Given the description of an element on the screen output the (x, y) to click on. 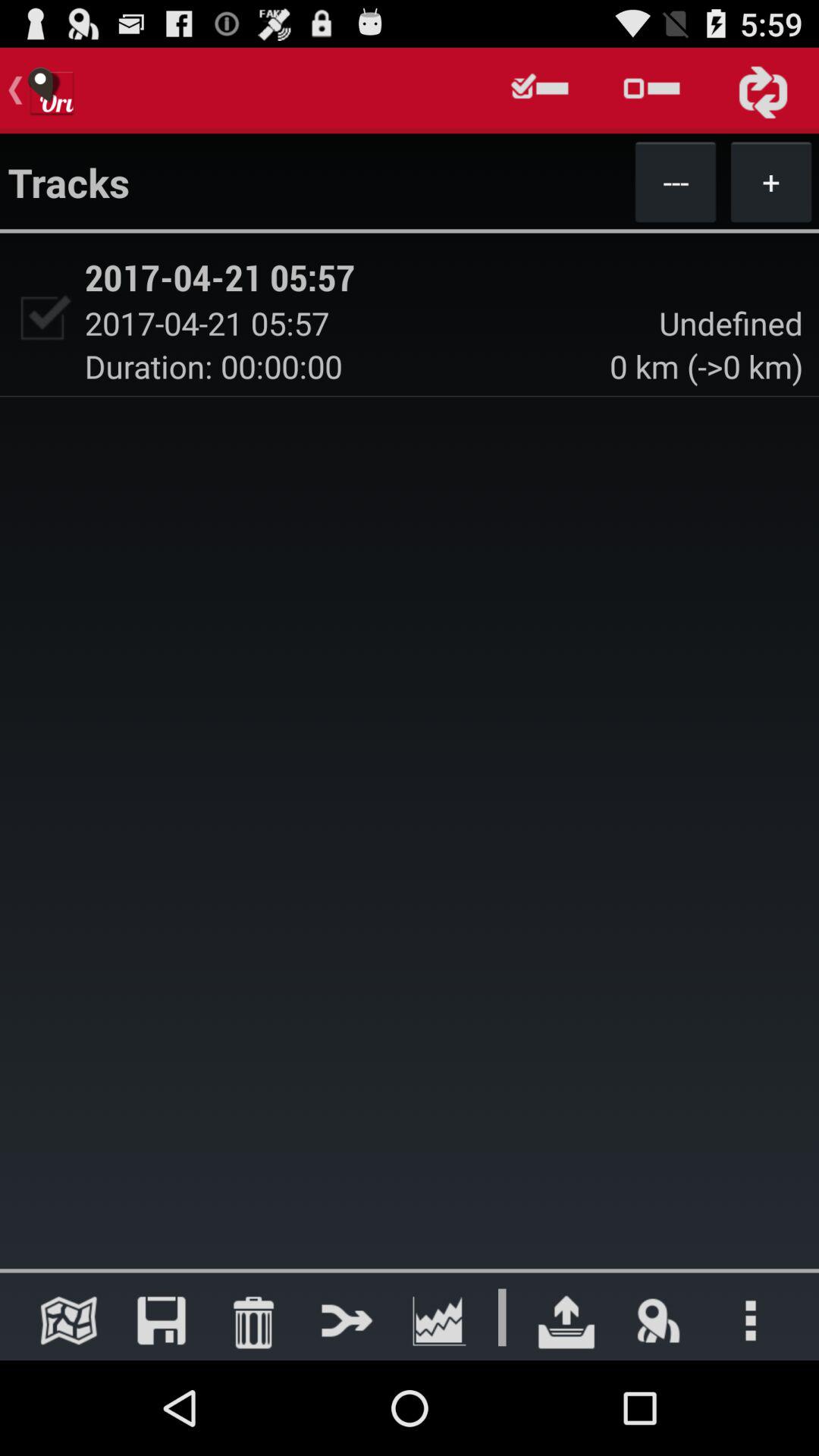
turn off the icon to the right of the --- item (771, 181)
